Given the description of an element on the screen output the (x, y) to click on. 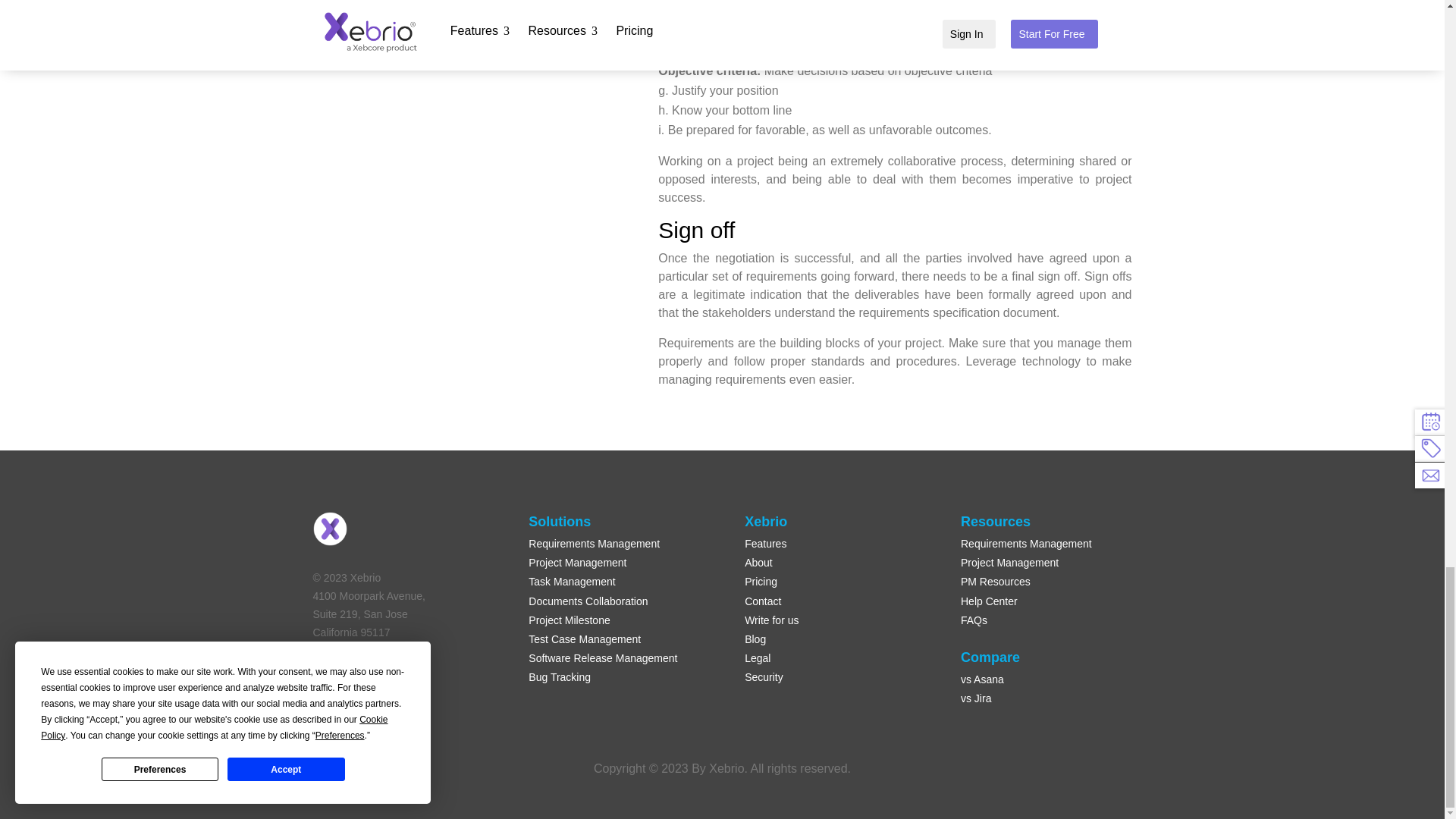
Follow on Facebook (324, 708)
Follow on LinkedIn (384, 708)
Follow on X (354, 708)
Follow on Instagram (415, 708)
